Given the description of an element on the screen output the (x, y) to click on. 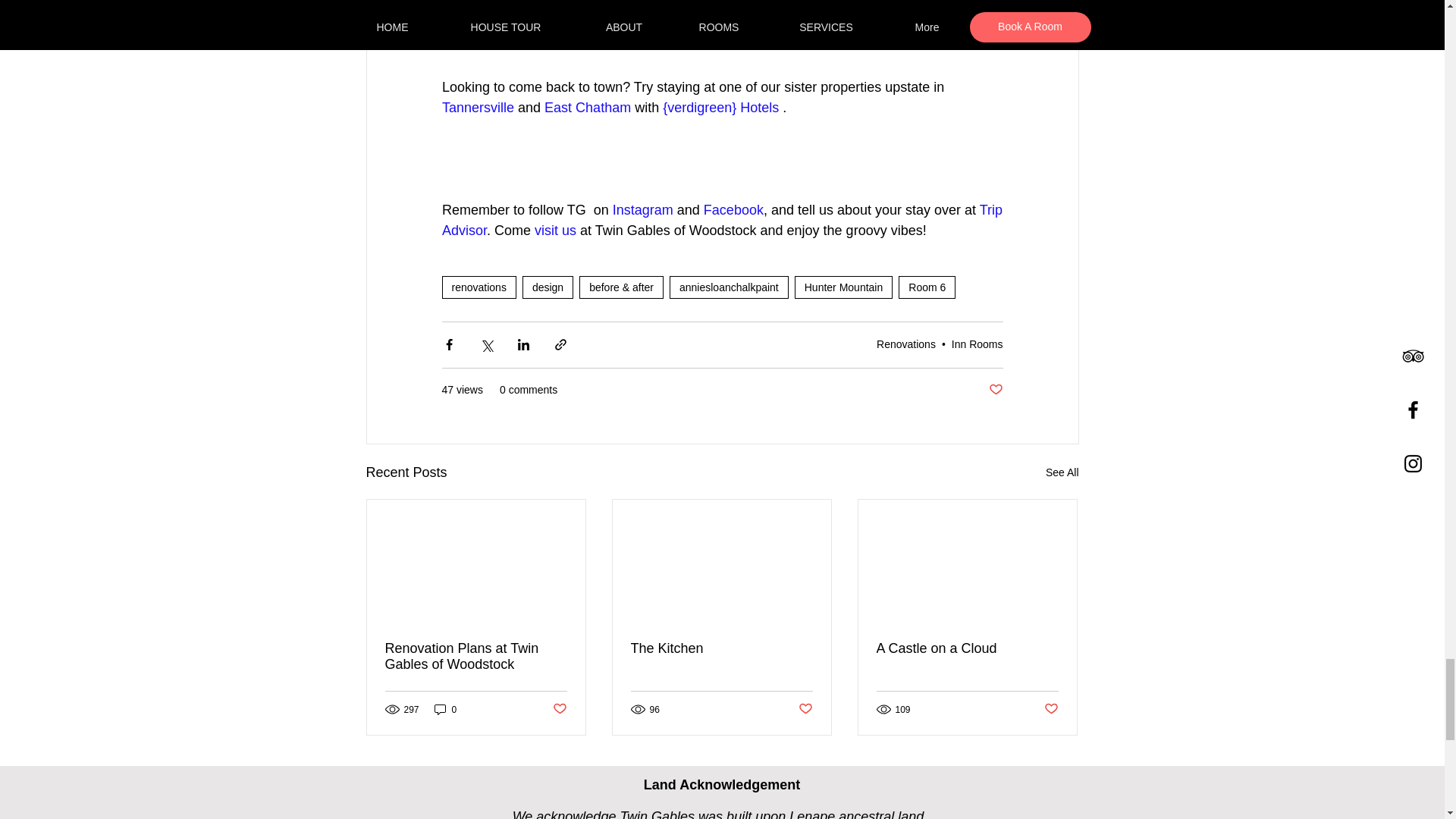
Facebook (732, 209)
Tannersville (477, 107)
East Chatham (587, 107)
Instagram (641, 209)
design (547, 287)
Trip Advisor (722, 220)
renovations (478, 287)
visit us (555, 230)
